Given the description of an element on the screen output the (x, y) to click on. 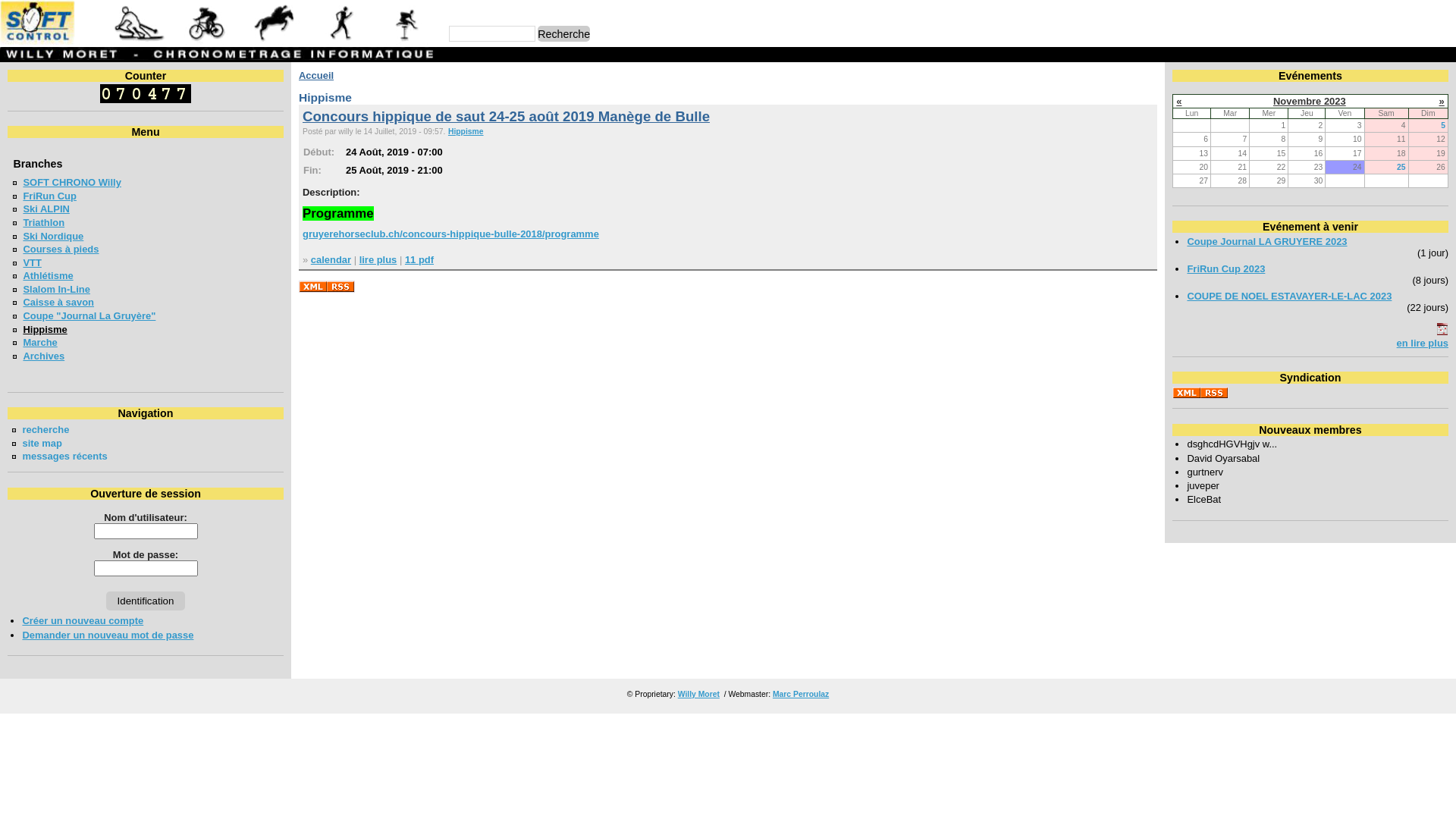
Ski ALPIN Element type: text (45, 208)
11 pdf Element type: text (418, 259)
Add this calendar to your iCalendar Element type: hover (1442, 331)
25 Element type: text (1400, 167)
Hippisme Element type: text (465, 131)
Archives Element type: text (43, 355)
Home Element type: hover (219, 41)
Flux XML Element type: hover (326, 286)
gruyerehorseclub.ch/concours-hippique-bulle-2018/programme Element type: text (450, 233)
FriRun Cup 2023 Element type: text (1225, 268)
Flux XML Element type: hover (1200, 392)
Recherche Element type: text (563, 33)
FriRun Cup Element type: text (49, 195)
Coupe Journal LA GRUYERE 2023 Element type: text (1266, 241)
Ski Nordique Element type: text (52, 235)
Slalom In-Line Element type: text (56, 288)
calendar Element type: text (330, 259)
COUPE DE NOEL ESTAVAYER-LE-LAC 2023 Element type: text (1288, 295)
SOFT CHRONO Willy Element type: text (71, 182)
Novembre 2023 Element type: text (1309, 100)
Marche Element type: text (39, 342)
VTT Element type: text (31, 262)
Marc Perroulaz Element type: text (800, 694)
site map Element type: text (41, 442)
Accueil Element type: text (315, 75)
en lire plus Element type: text (1422, 342)
Demander un nouveau mot de passe Element type: text (107, 634)
Willy Moret Element type: text (698, 694)
Hippisme Element type: text (44, 329)
lire plus Element type: text (378, 259)
5 Element type: text (1442, 125)
Triathlon Element type: text (43, 222)
recherche Element type: text (45, 429)
Identification Element type: text (145, 600)
